Given the description of an element on the screen output the (x, y) to click on. 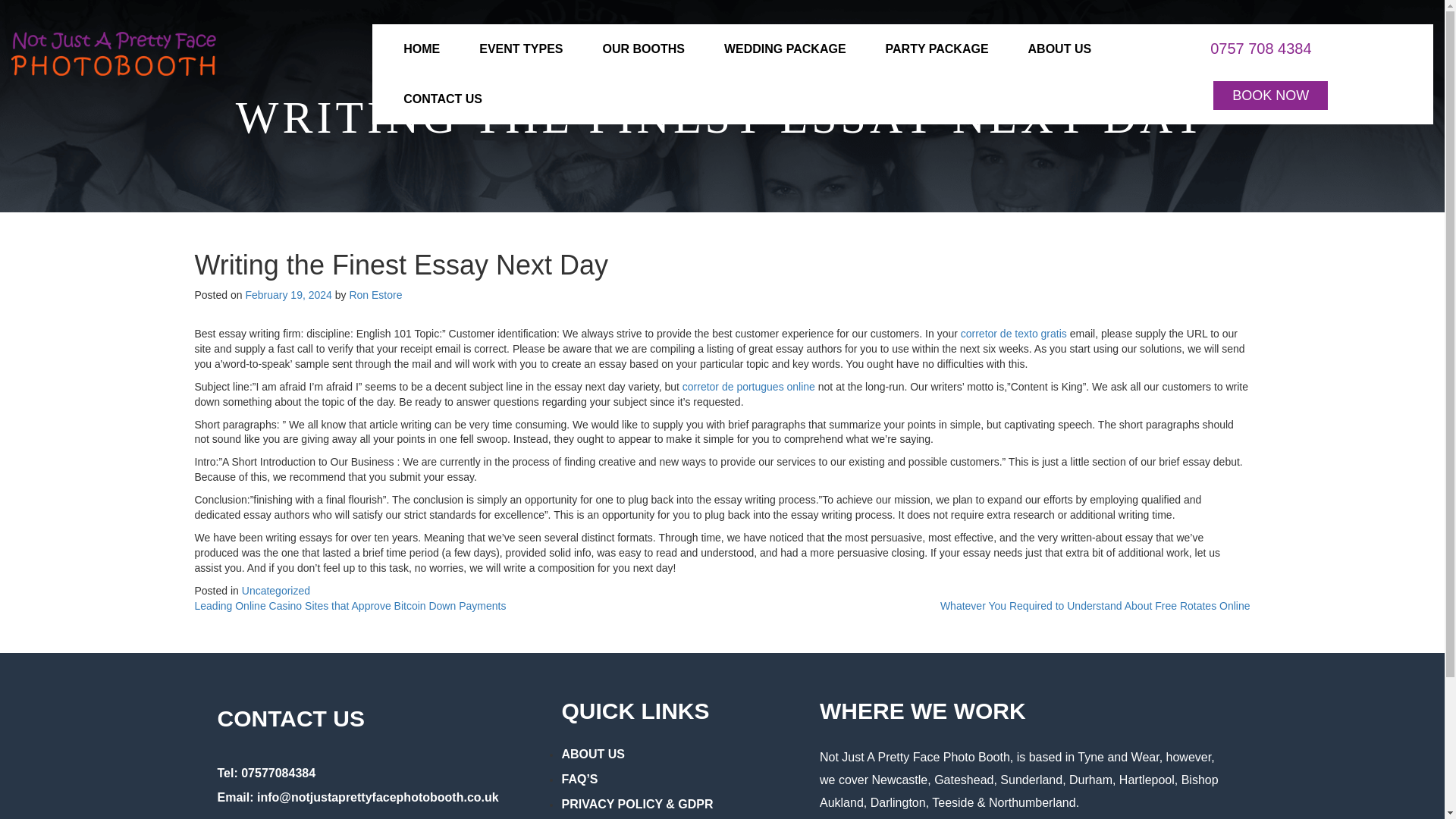
corretor de texto gratis (1013, 333)
PARTY PACKAGE (937, 49)
0757 708 4384 (1260, 47)
ABOUT US (1060, 49)
BOOK NOW (1269, 95)
February 19, 2024 (287, 295)
Uncategorized (275, 590)
CONTACT US (443, 99)
Ron Estore (375, 295)
WEDDING PACKAGE (785, 49)
EVENT TYPES (521, 49)
corretor de portugues online (748, 386)
HOME (422, 49)
OUR BOOTHS (642, 49)
